Given the description of an element on the screen output the (x, y) to click on. 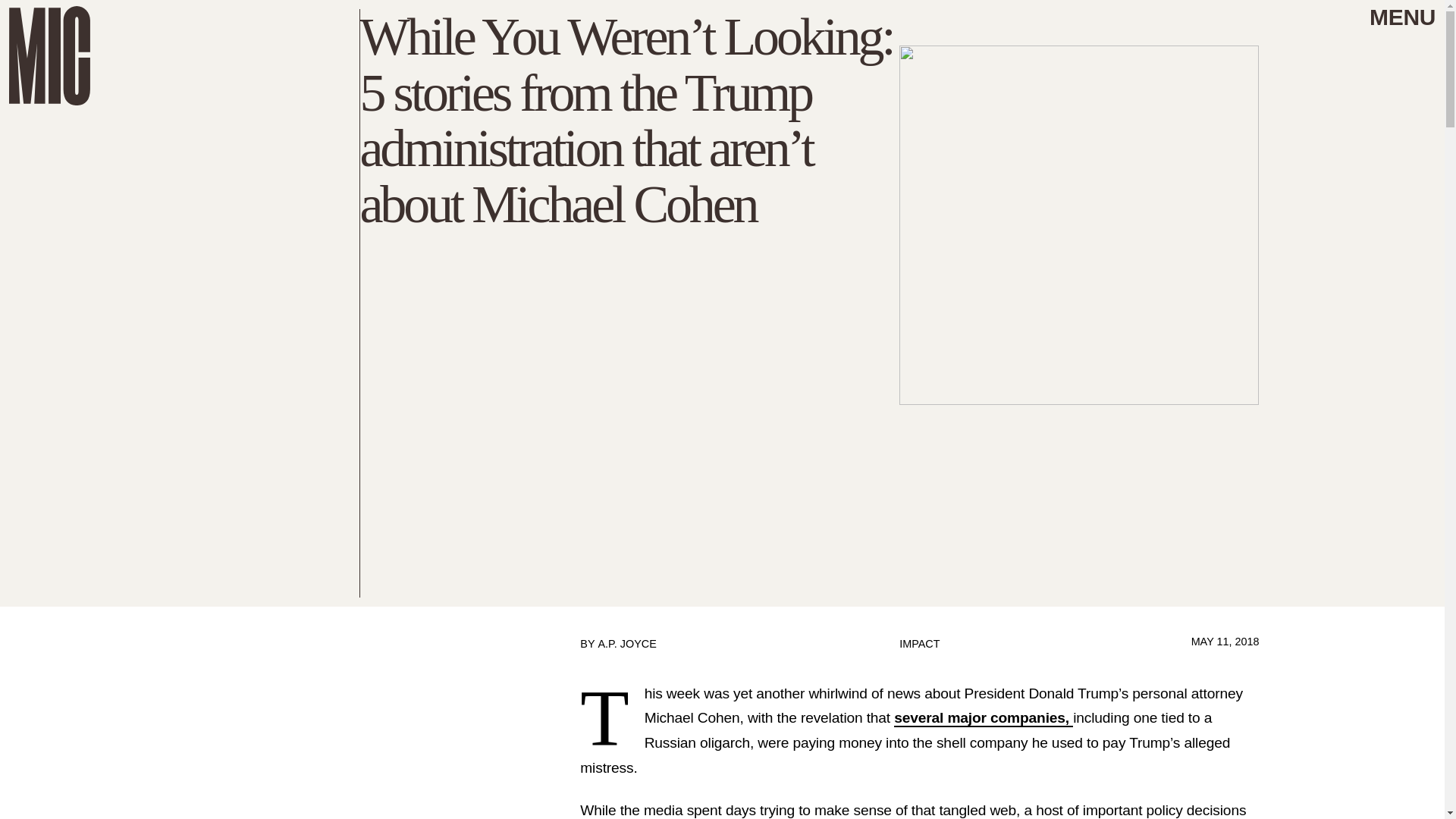
several major companies, (983, 718)
A.P. JOYCE (626, 644)
